Given the description of an element on the screen output the (x, y) to click on. 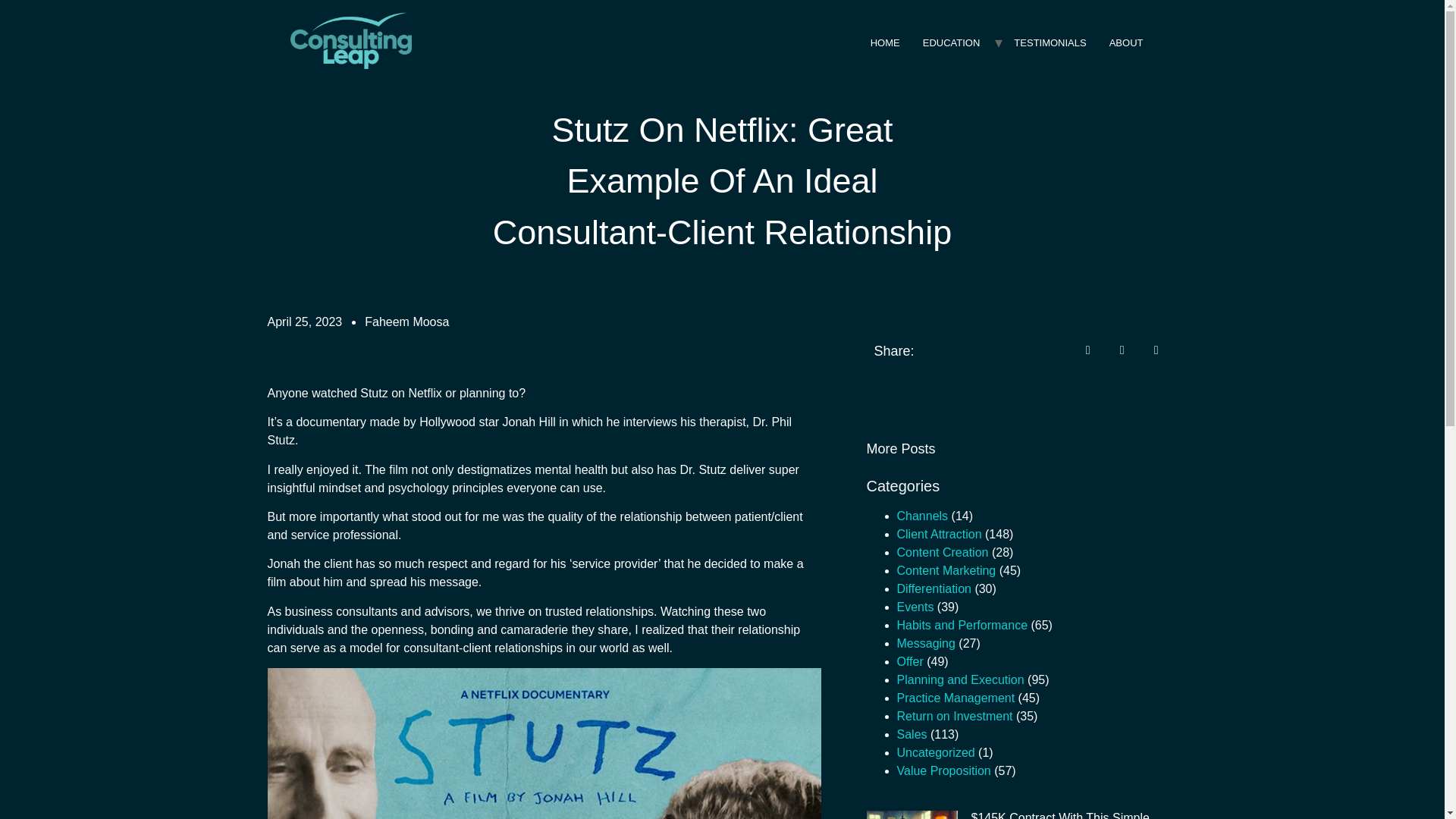
Content Creation (942, 552)
TESTIMONIALS (1050, 42)
Habits and Performance (961, 625)
Return on Investment (953, 716)
ABOUT (1125, 42)
Planning and Execution (959, 679)
Differentiation (933, 588)
Messaging (925, 643)
Events (914, 606)
Uncategorized (935, 752)
HOME (885, 42)
Client Attraction (938, 533)
Value Proposition (943, 770)
Practice Management (955, 697)
Content Marketing (945, 570)
